Given the description of an element on the screen output the (x, y) to click on. 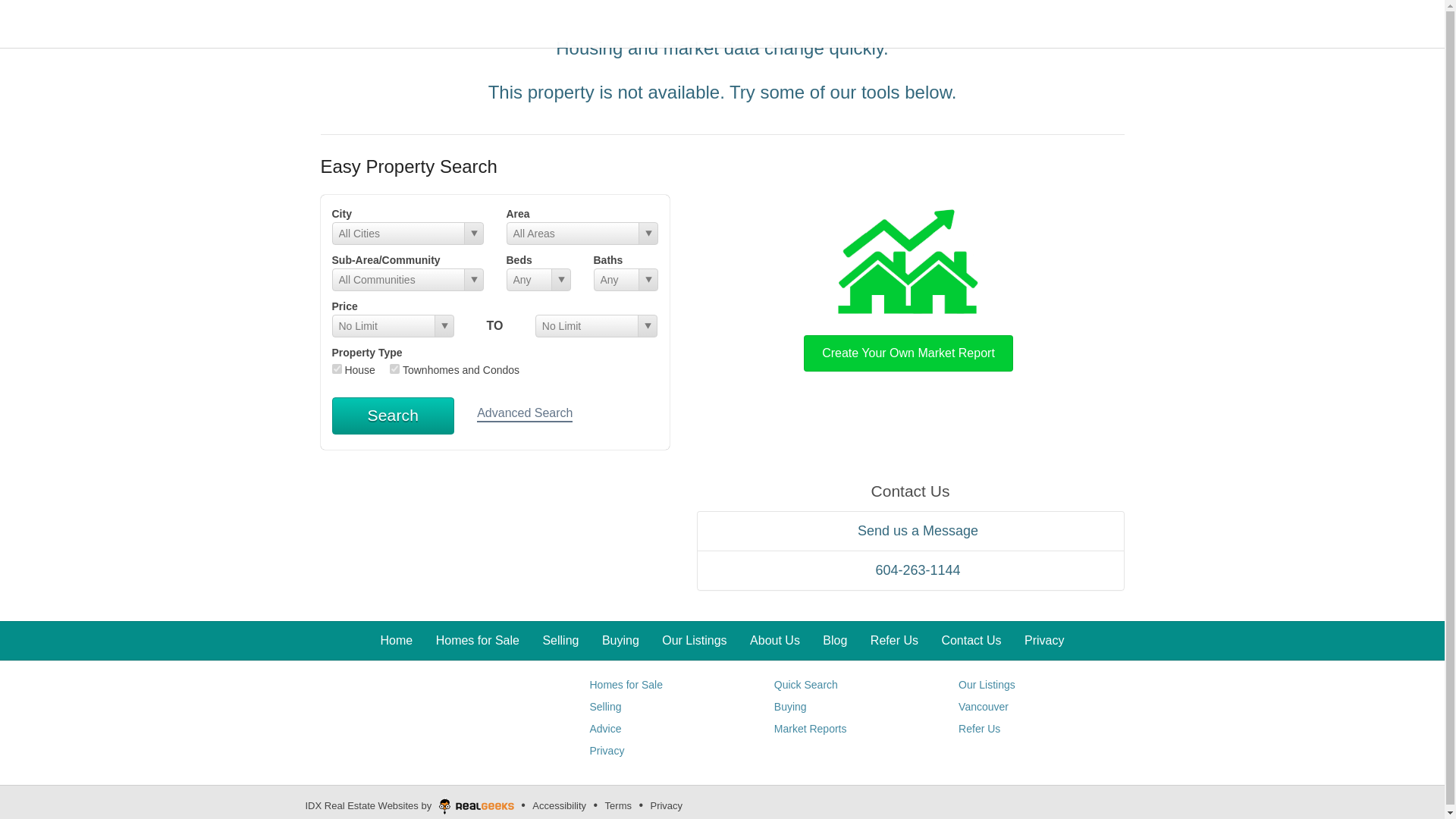
Home (396, 640)
Create Your Own Market Report (908, 286)
Selling (605, 706)
Search (392, 415)
Search (392, 415)
Selling (559, 640)
Quick Search (806, 684)
Homes for Sale (625, 684)
Buying (790, 706)
Blog (834, 640)
